Given the description of an element on the screen output the (x, y) to click on. 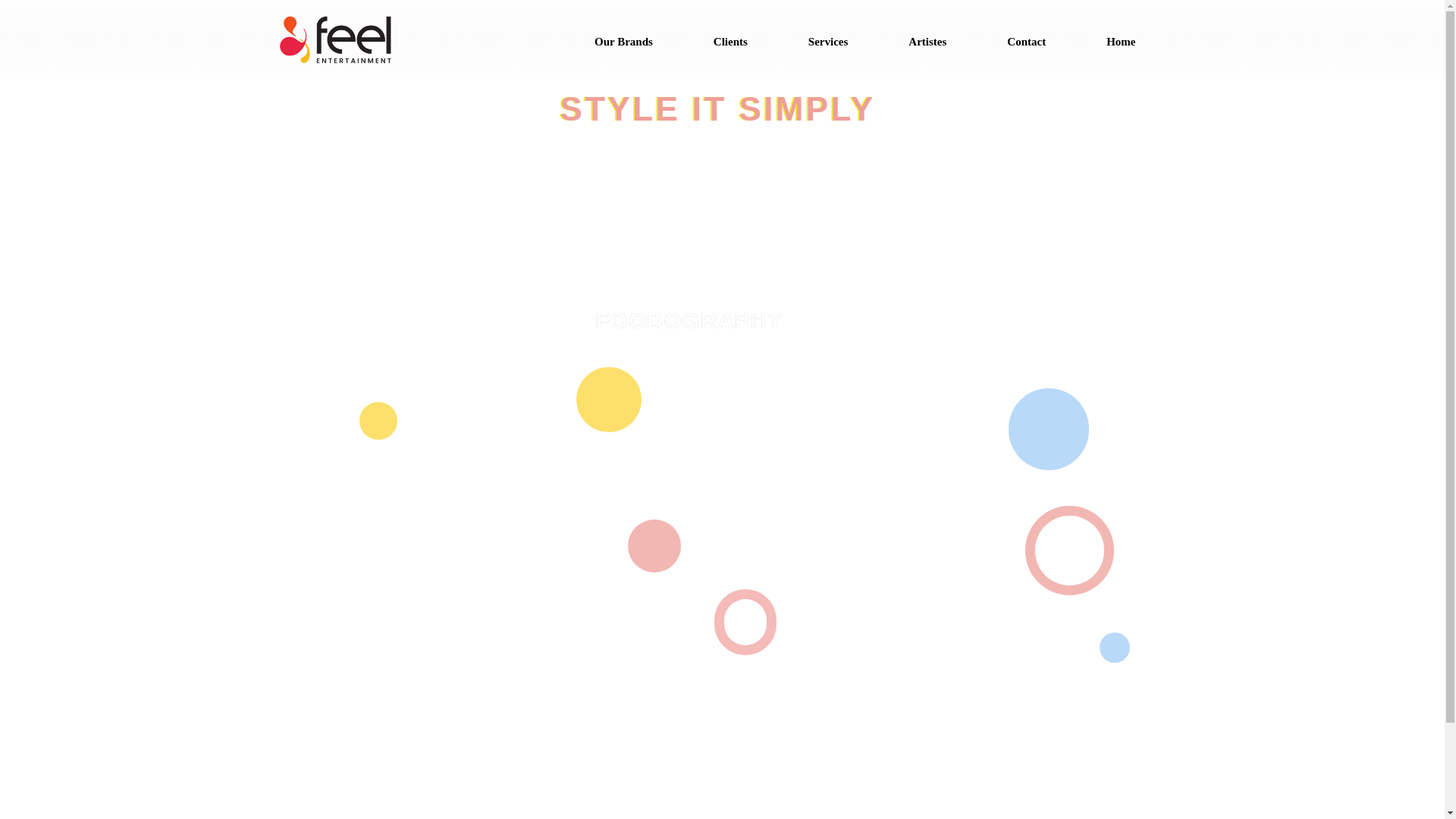
Home (1120, 39)
Services (828, 39)
Home (865, 816)
Clients (730, 39)
Artistes (927, 39)
Contact (1025, 39)
Services (706, 816)
Artistes (761, 816)
Our Brands (623, 39)
Contact (814, 816)
Our Brands (592, 816)
Clients (653, 816)
